Given the description of an element on the screen output the (x, y) to click on. 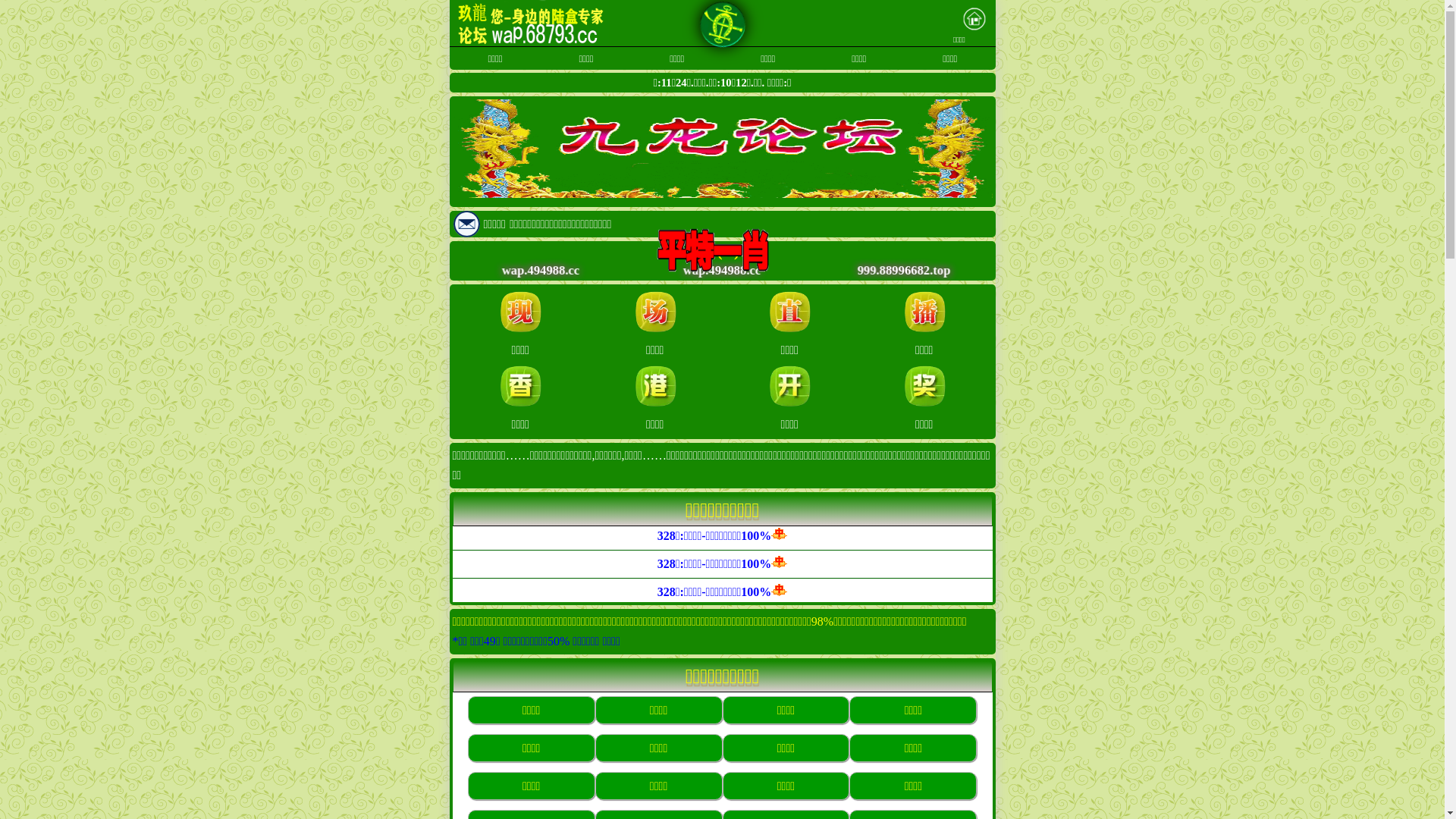
999.88996682.top Element type: text (899, 269)
wap.494988.cc Element type: text (717, 269)
wap.494988.cc Element type: text (536, 269)
